Given the description of an element on the screen output the (x, y) to click on. 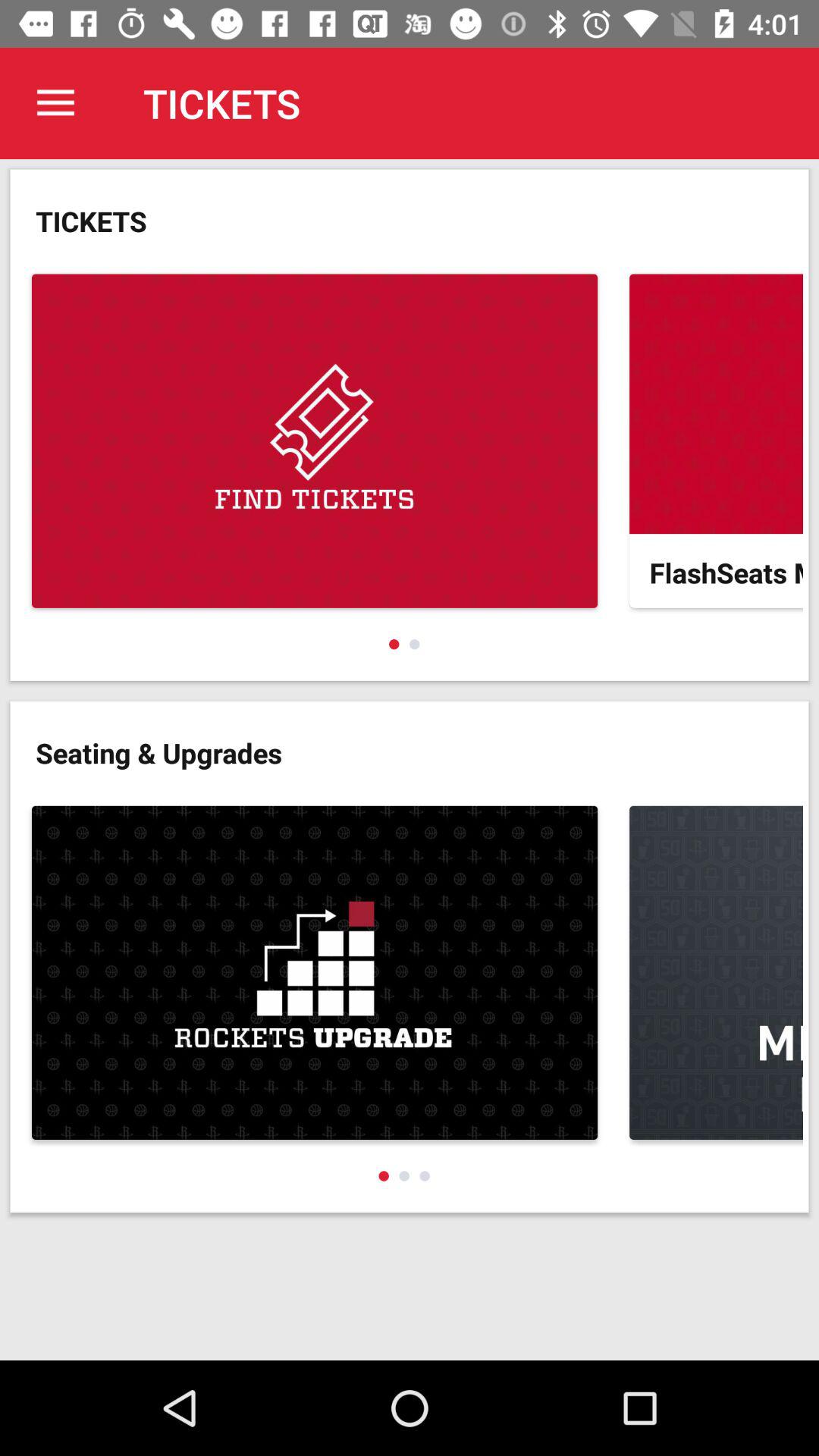
press icon next to the tickets icon (55, 103)
